Given the description of an element on the screen output the (x, y) to click on. 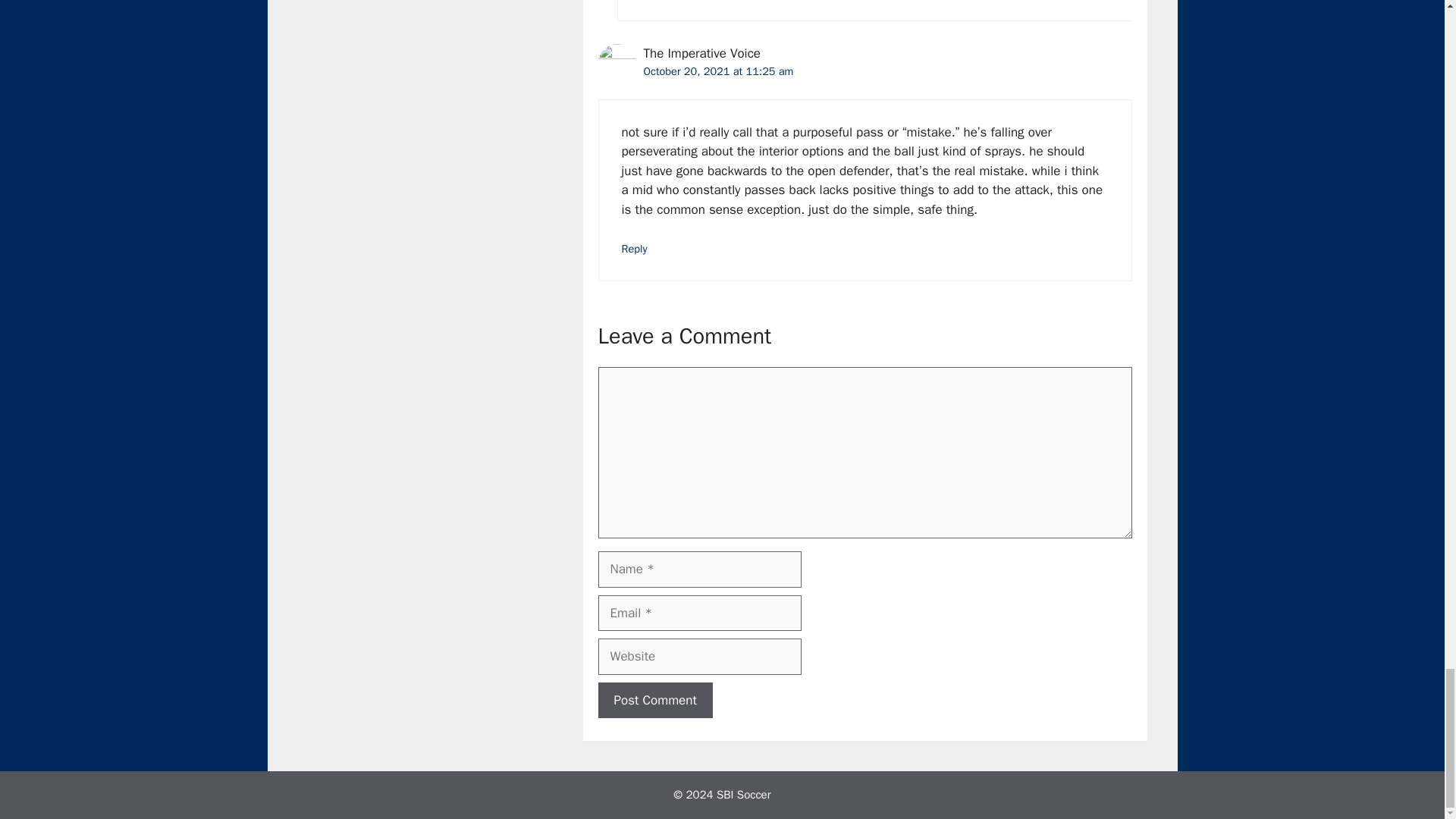
Post Comment (653, 700)
